Given the description of an element on the screen output the (x, y) to click on. 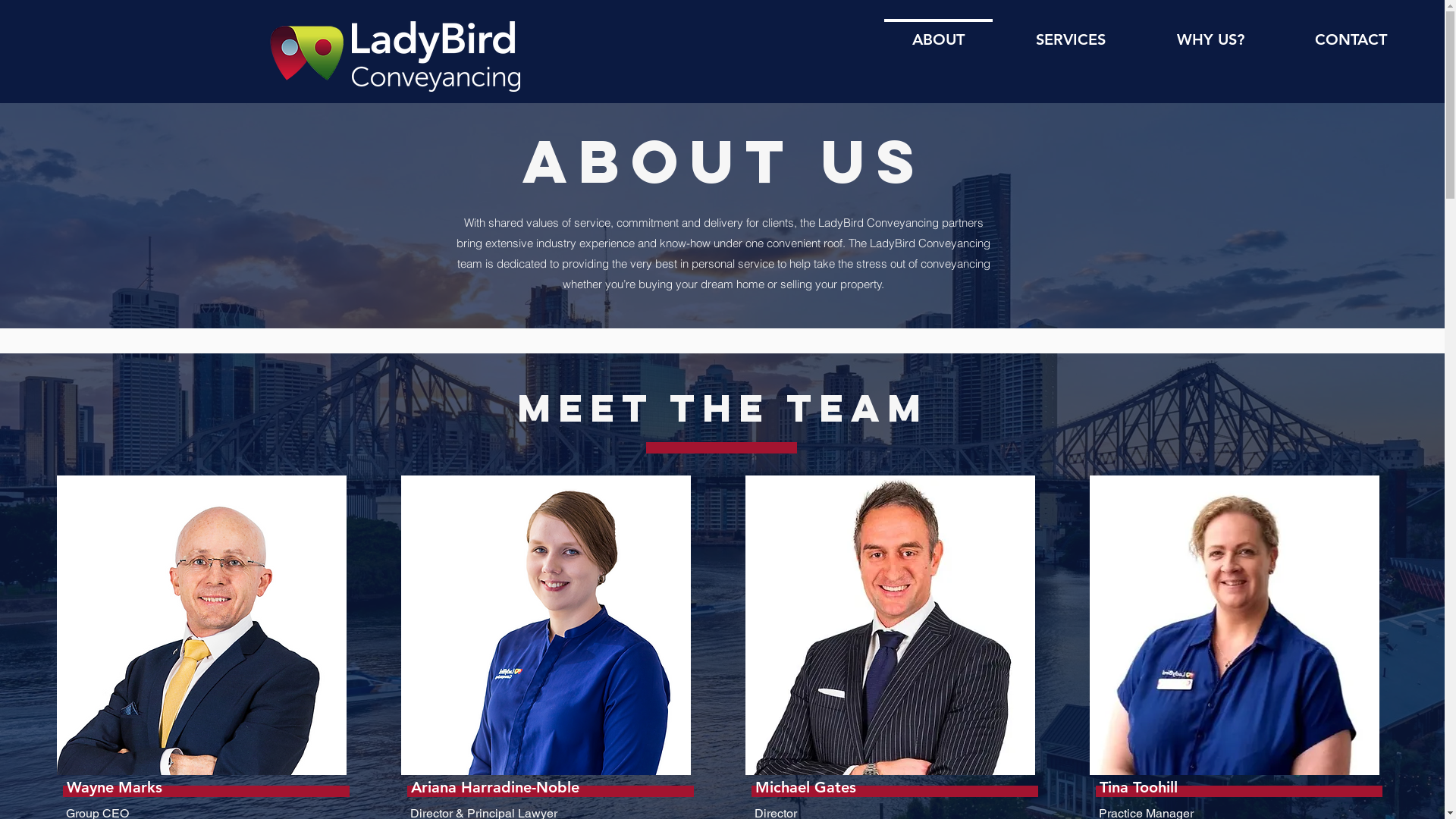
LadyBird Conveyancing - Practice Manager: Tina Toohill Element type: hover (1233, 624)
CONTACT Element type: text (1350, 32)
WHY US? Element type: text (1210, 32)
LadyBird Conveyancing - Director: Michael Gates Element type: hover (889, 624)
Ladybird Group - LadyBird Conveyancing Logo - Home Page Element type: hover (305, 51)
LadyBird Conveyancing - Managing Partner: Wayne Marks Element type: hover (200, 624)
SERVICES Element type: text (1070, 32)
ABOUT Element type: text (938, 32)
Ladybird Group - LadyBird Conveyancing Logo - Home Page Element type: hover (435, 56)
